Given the description of an element on the screen output the (x, y) to click on. 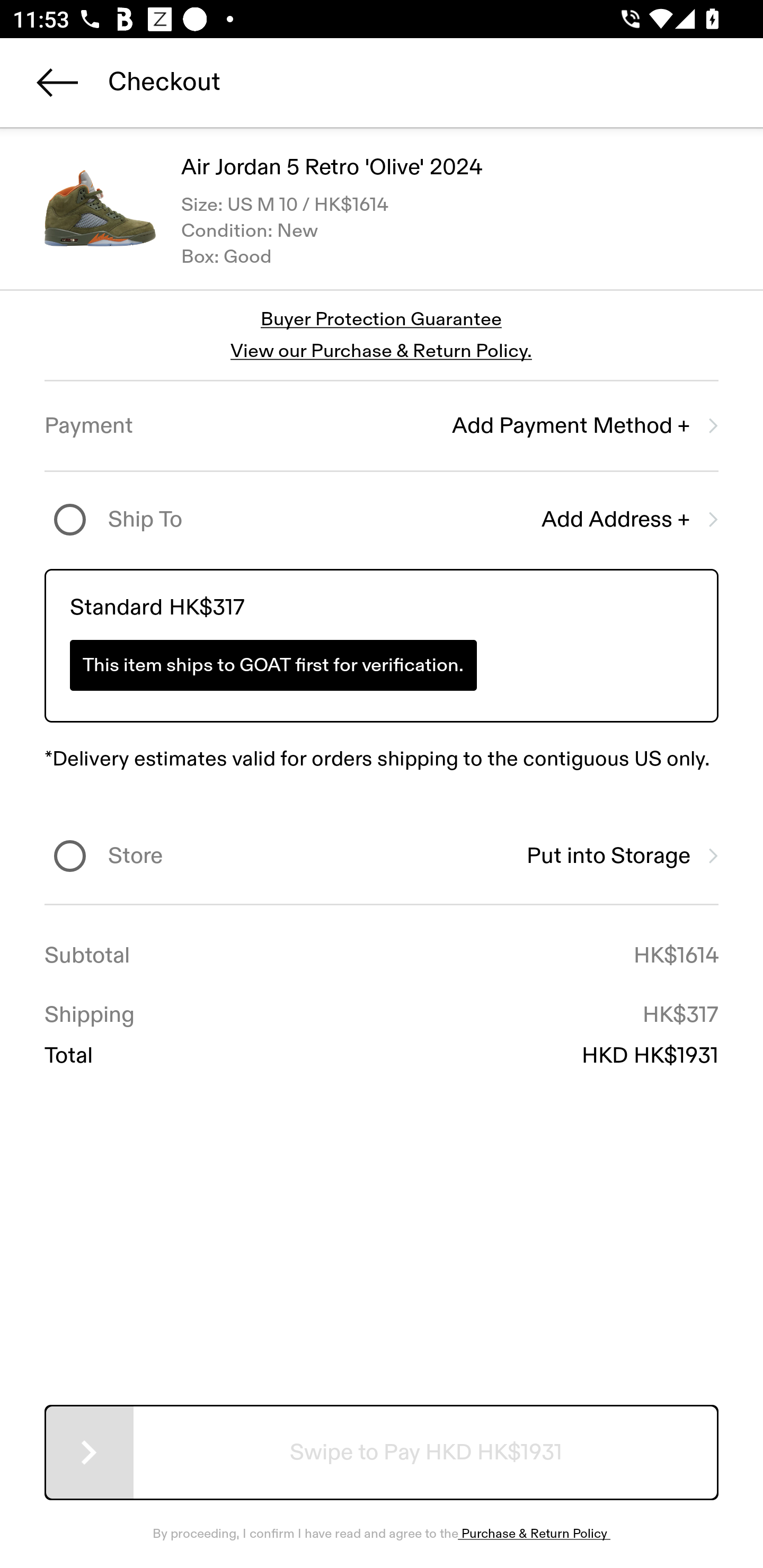
Navigate up (56, 82)
Buyer Protection Guarantee (381, 319)
View our Purchase & Return Policy. (380, 350)
Payment Add Payment Method + (381, 425)
